Given the description of an element on the screen output the (x, y) to click on. 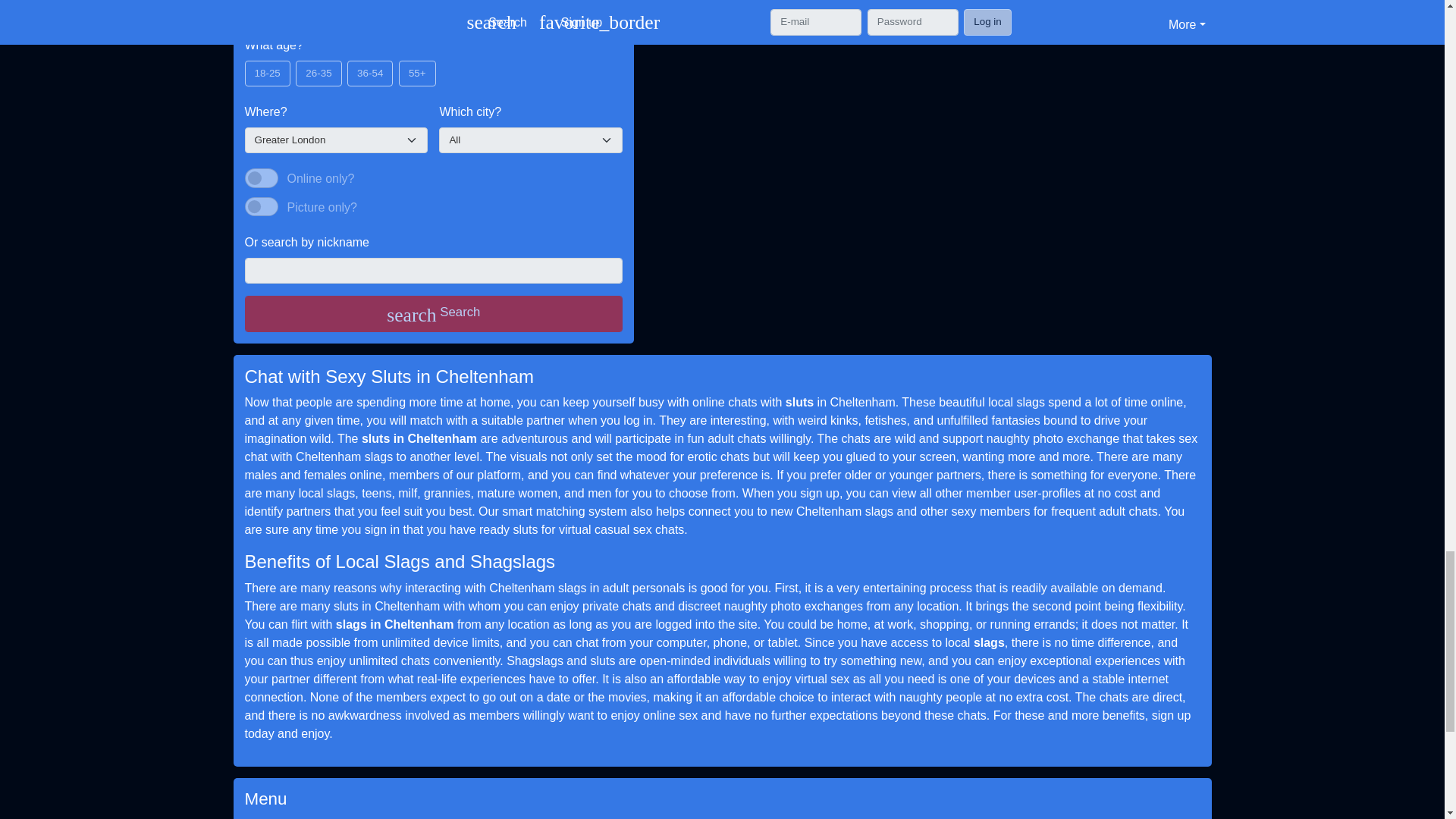
18-25 (248, 65)
26-35 (300, 65)
1 (261, 207)
36-54 (351, 65)
1 (261, 178)
couple (355, 4)
female (296, 4)
male (248, 4)
shemale (414, 4)
search Search (433, 313)
